Given the description of an element on the screen output the (x, y) to click on. 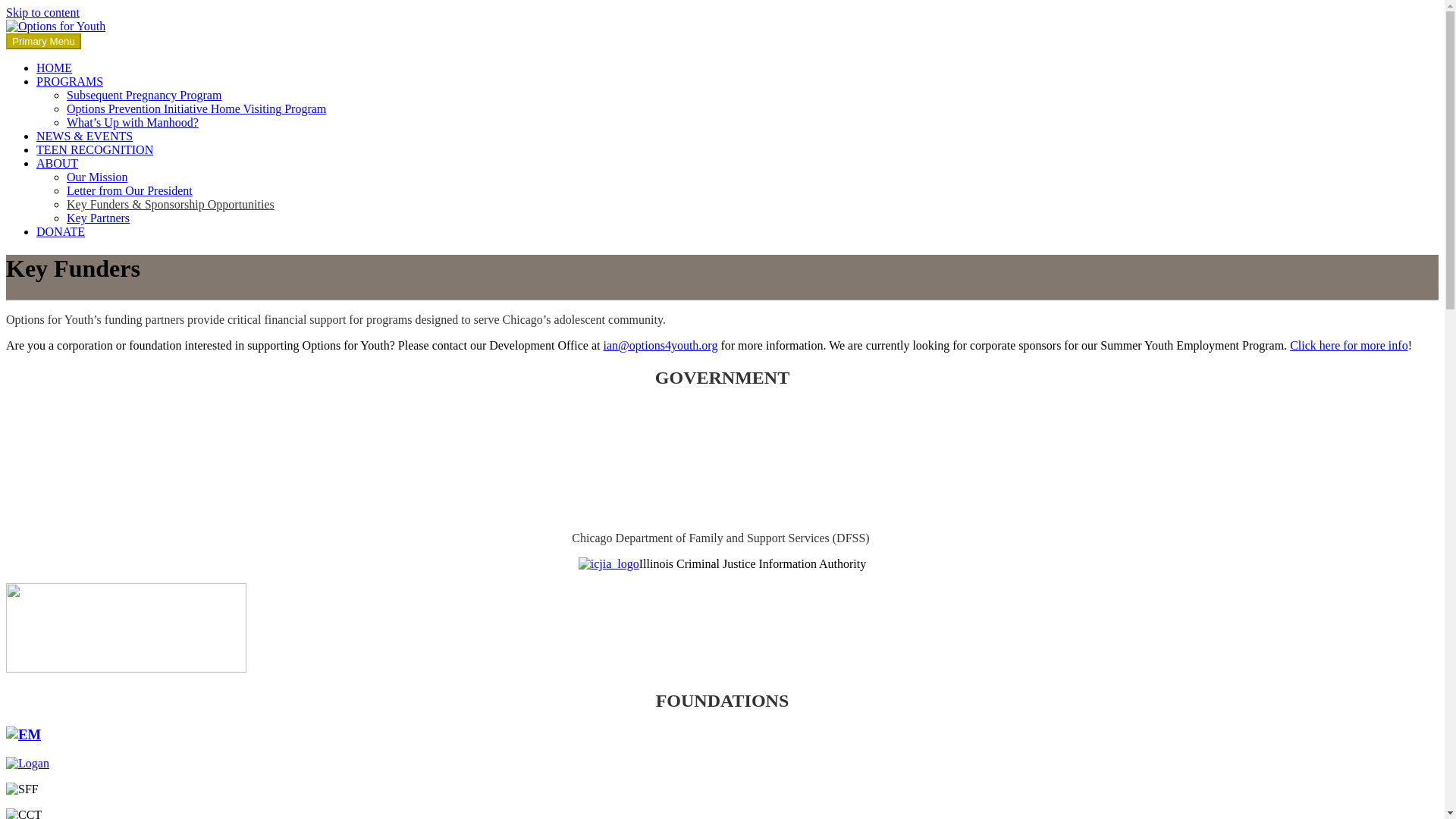
Options Prevention Initiative Home Visiting Program (196, 108)
ABOUT (57, 163)
Skip to content (42, 11)
HOME (53, 67)
Key Partners (97, 217)
Click here for more info (1348, 345)
Options for Youth (54, 25)
Our Mission (97, 176)
TEEN RECOGNITION (94, 149)
Subsequent Pregnancy Program (143, 94)
